Given the description of an element on the screen output the (x, y) to click on. 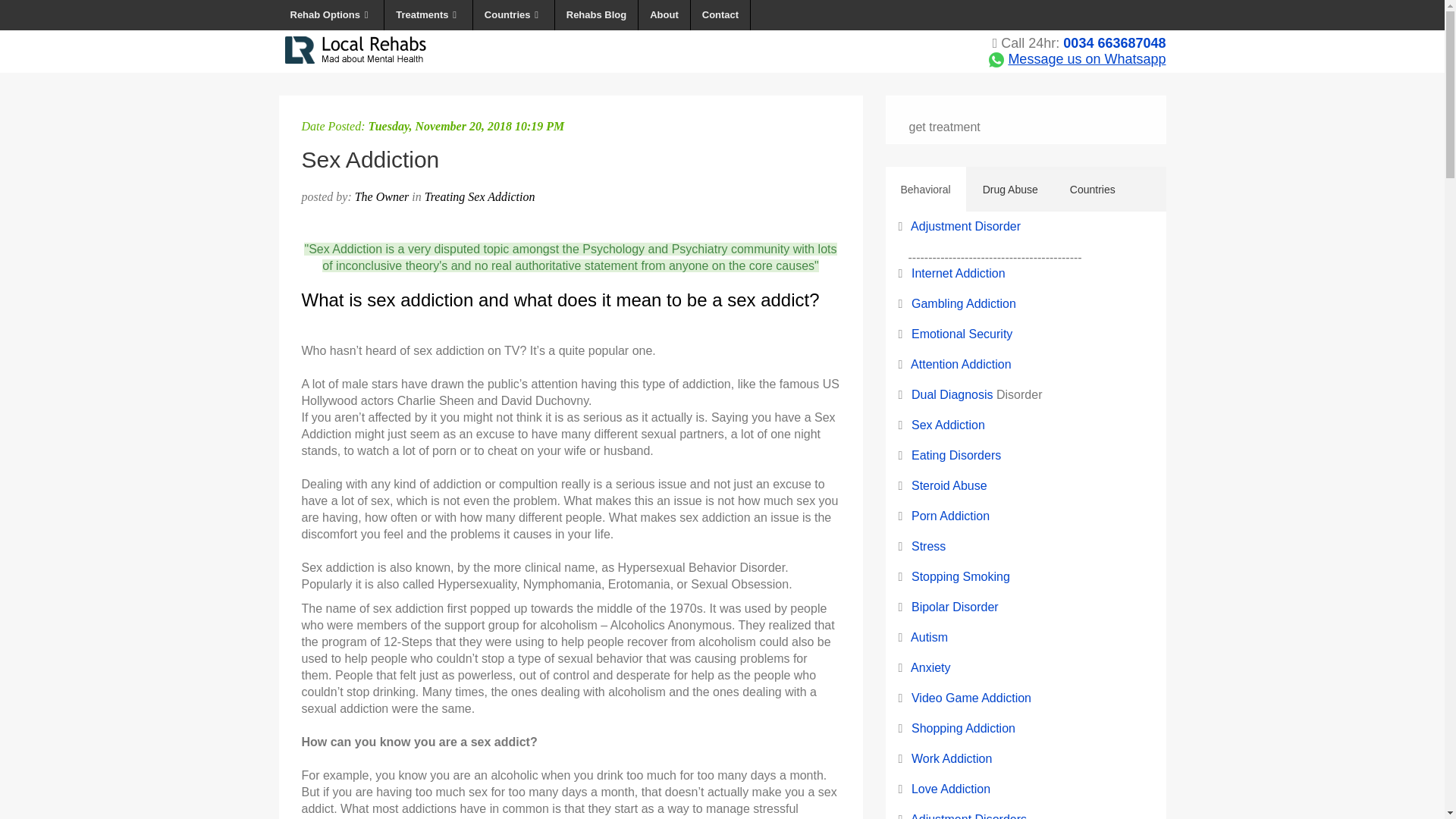
Local Rehabs Blog (596, 15)
Treatments (428, 15)
Drug Abuse (1010, 189)
Adjustment Disorder (965, 226)
about localrehabs (664, 15)
Countries (513, 15)
Countries (1092, 189)
The Owner (382, 196)
Dual Diagnosis (951, 394)
About (664, 15)
